Given the description of an element on the screen output the (x, y) to click on. 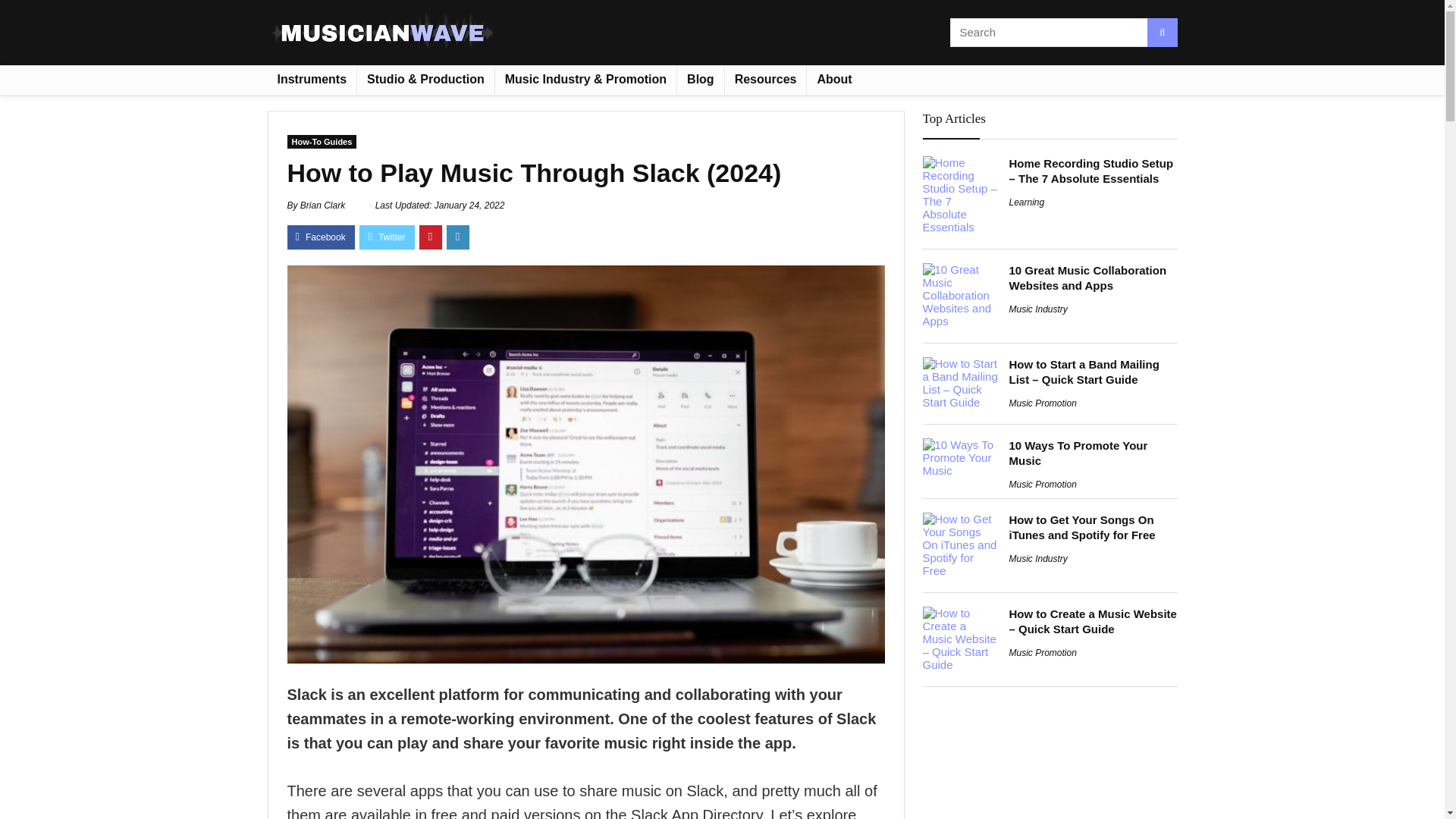
Resources (765, 79)
Blog (700, 79)
View all posts in How-To Guides (321, 141)
How-To Guides (321, 141)
About (833, 79)
Instruments (311, 79)
